Given the description of an element on the screen output the (x, y) to click on. 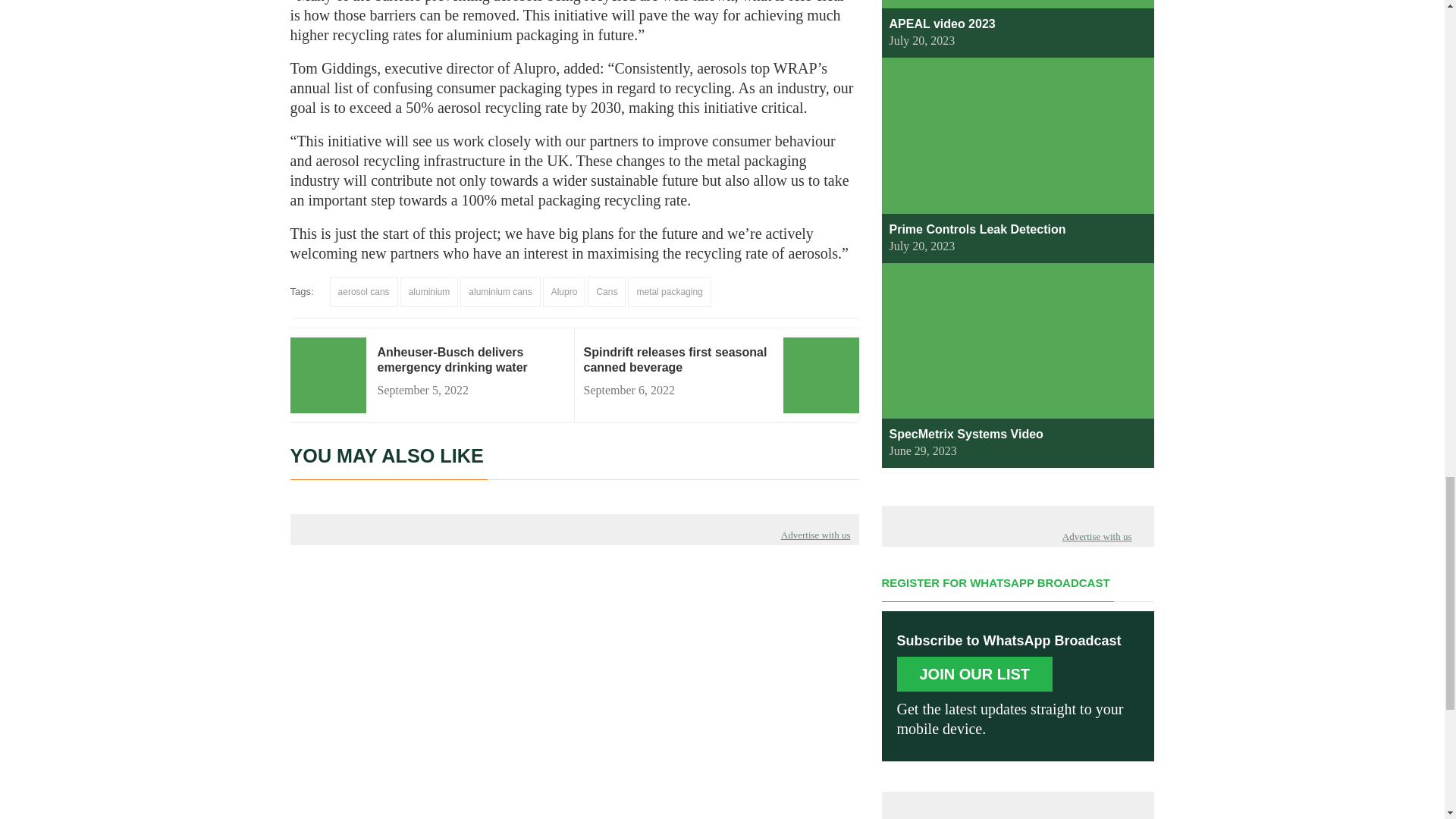
Alupro (564, 291)
Cans (607, 291)
prev post (470, 359)
aluminium (429, 291)
aluminium cans (500, 291)
Anheuser-Busch delivers emergency drinking water (470, 359)
prev post (677, 359)
Spindrift releases first seasonal canned beverage (677, 359)
metal packaging (668, 291)
aerosol cans (363, 291)
